Given the description of an element on the screen output the (x, y) to click on. 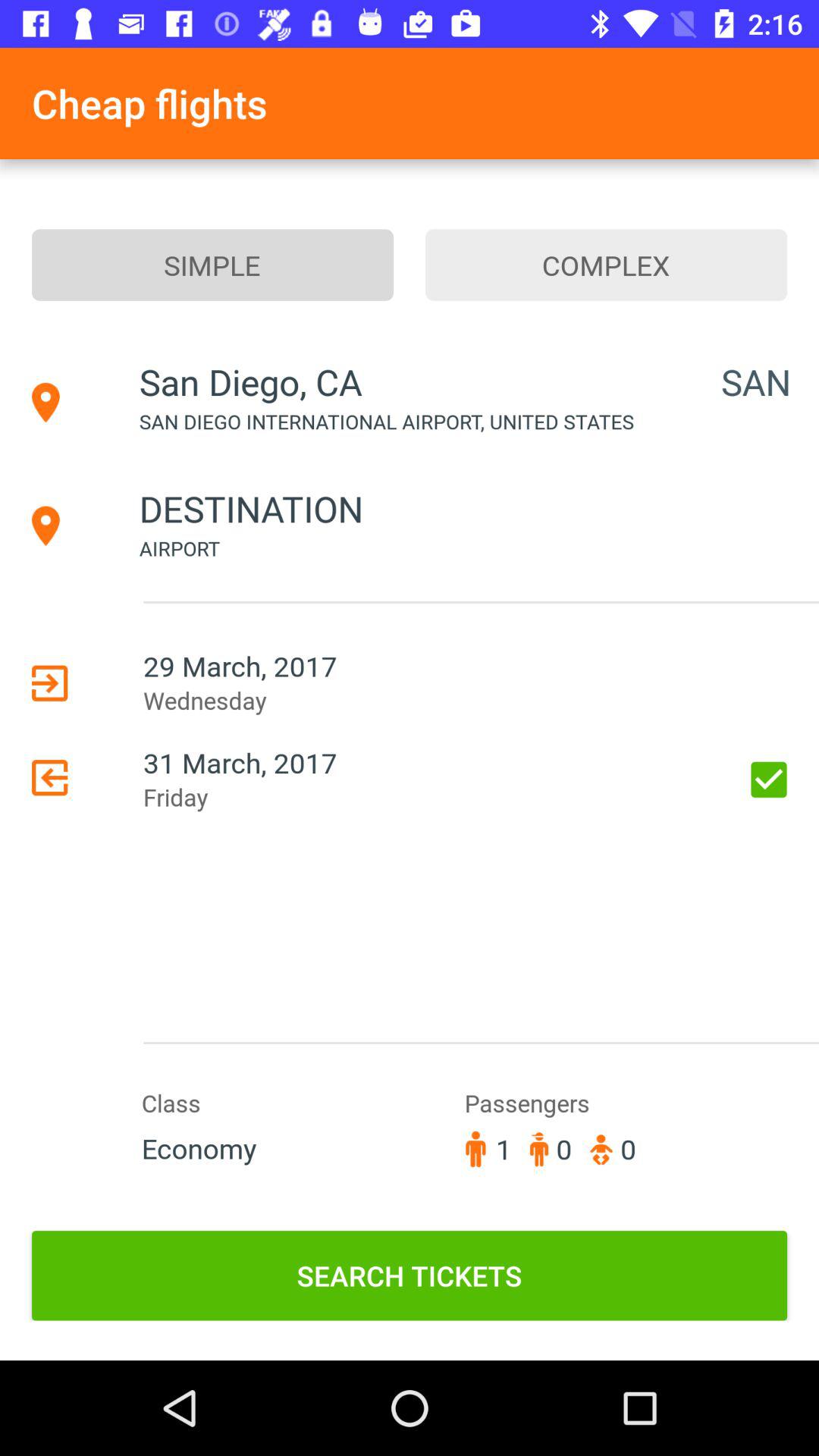
launch search tickets icon (409, 1275)
